Given the description of an element on the screen output the (x, y) to click on. 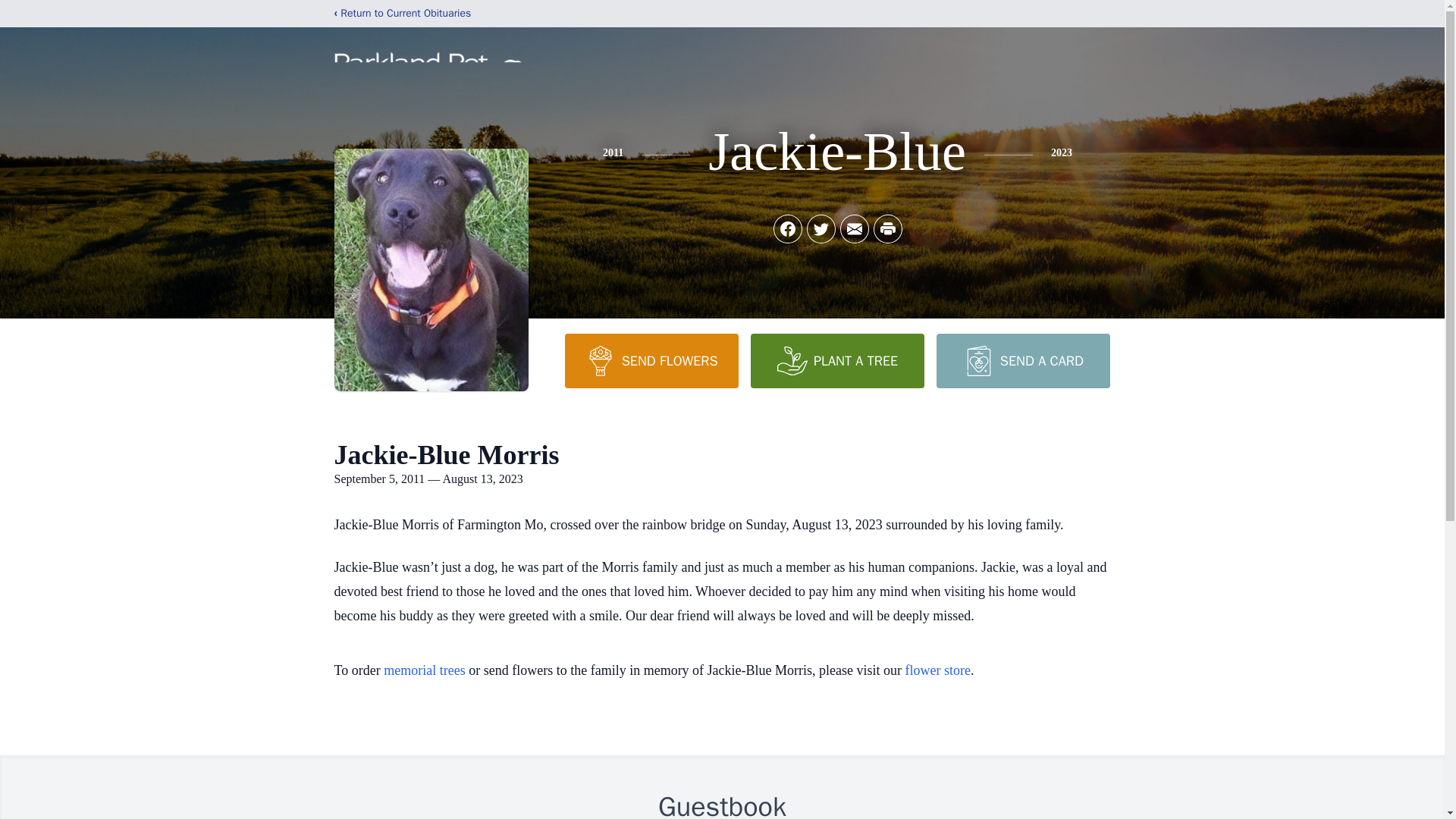
memorial trees (424, 670)
SEND FLOWERS (651, 360)
PLANT A TREE (837, 360)
SEND A CARD (1022, 360)
flower store (938, 670)
